Given the description of an element on the screen output the (x, y) to click on. 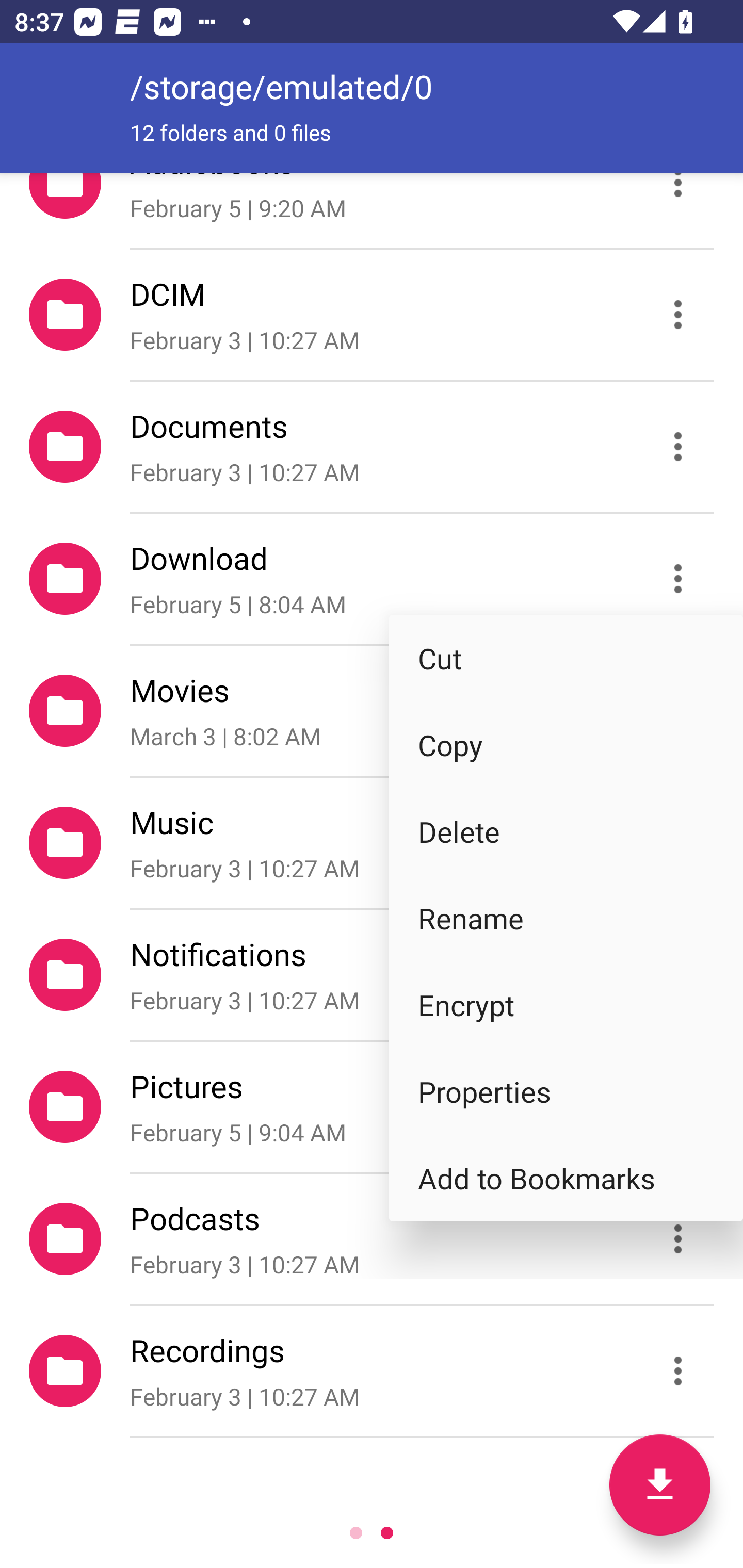
Cut (566, 657)
Copy (566, 744)
Delete (566, 831)
Rename (566, 917)
Encrypt (566, 1004)
Properties (566, 1091)
Add to Bookmarks (566, 1178)
